Given the description of an element on the screen output the (x, y) to click on. 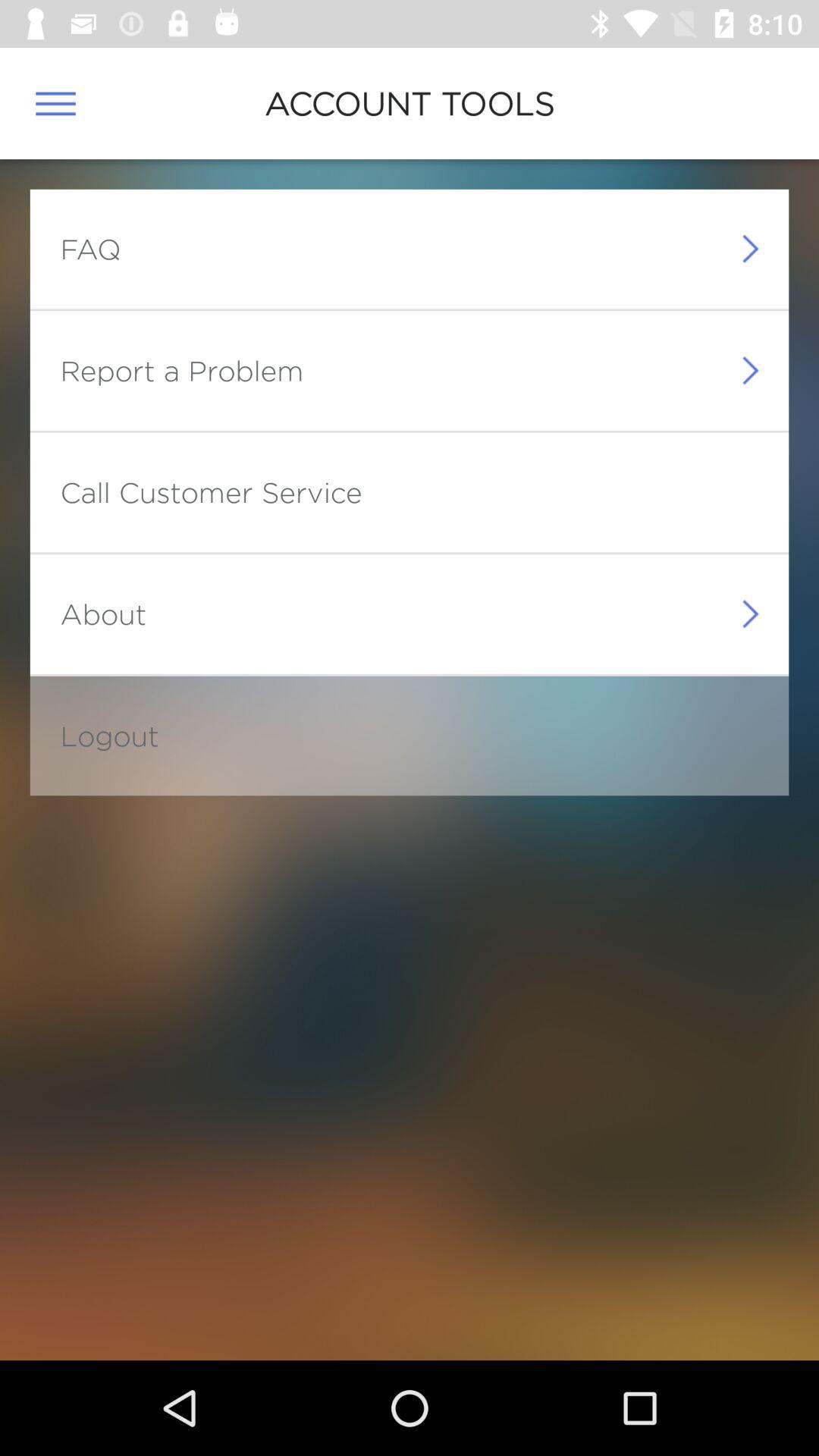
scroll until logout item (109, 735)
